Given the description of an element on the screen output the (x, y) to click on. 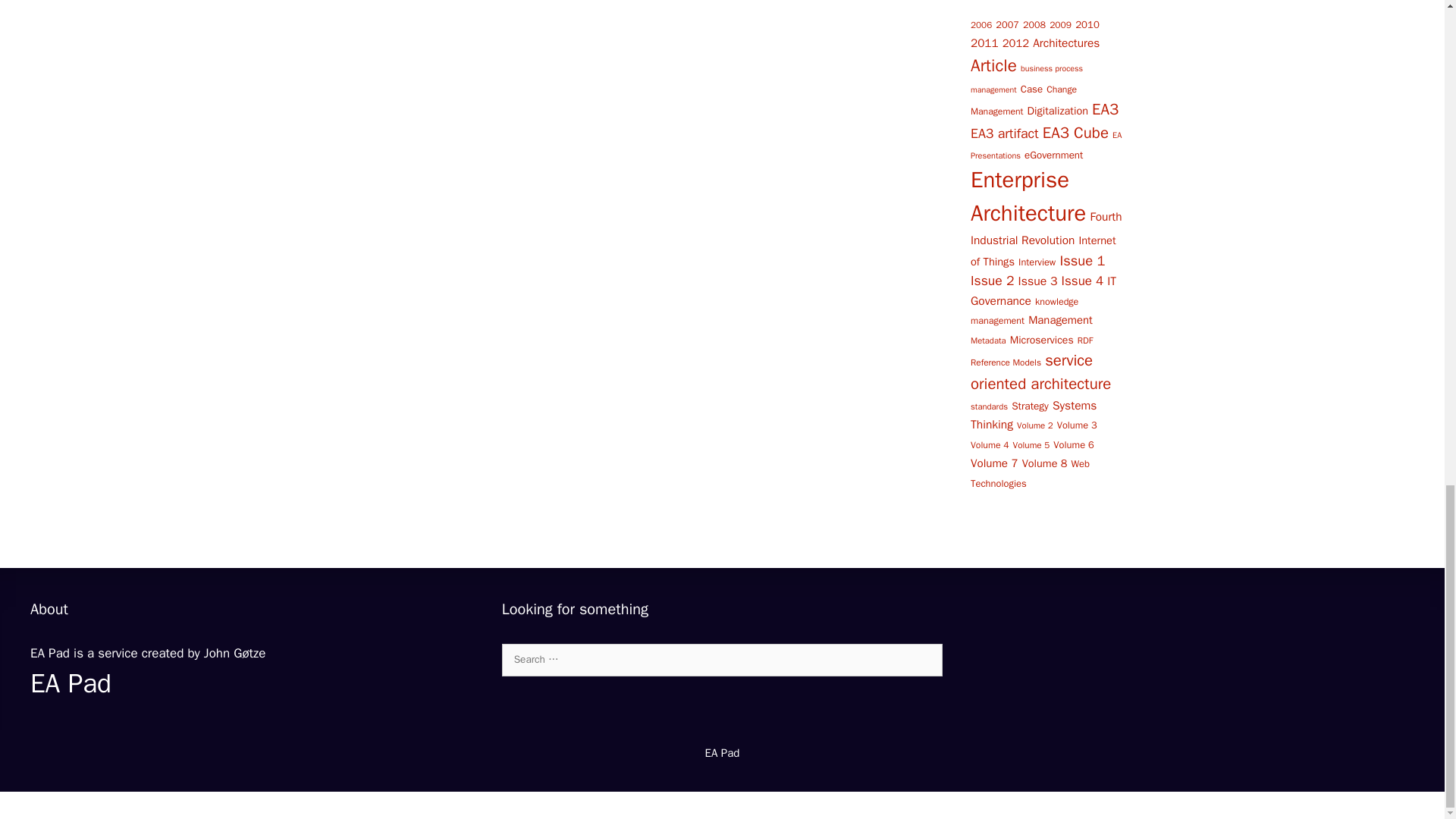
Search for: (722, 659)
Scroll back to top (1406, 336)
